Given the description of an element on the screen output the (x, y) to click on. 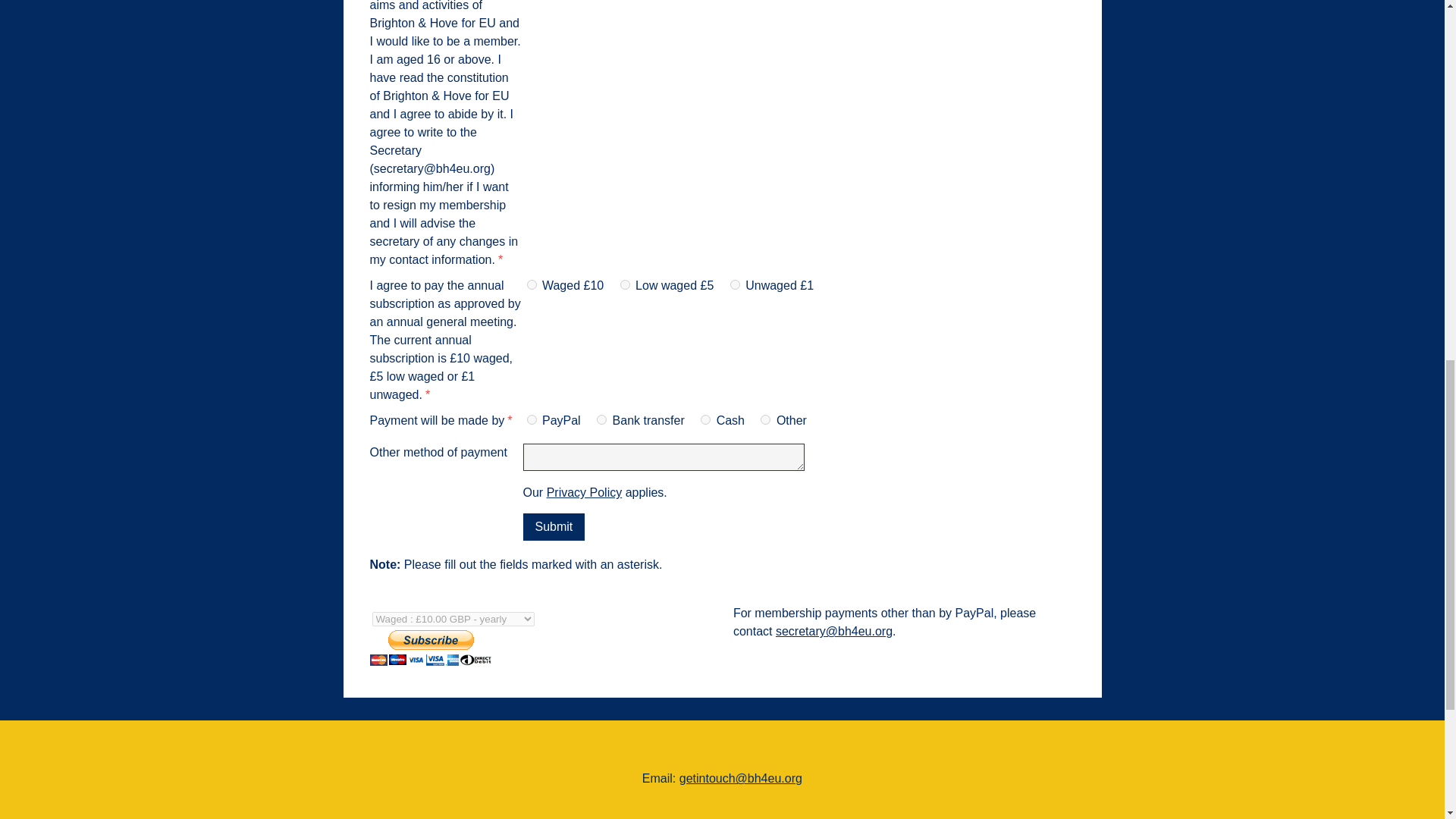
Submit (553, 526)
PayPal (530, 419)
Privacy Policy (585, 492)
Other (765, 419)
Cash (705, 419)
Submit (553, 526)
Bank transfer (601, 419)
